Given the description of an element on the screen output the (x, y) to click on. 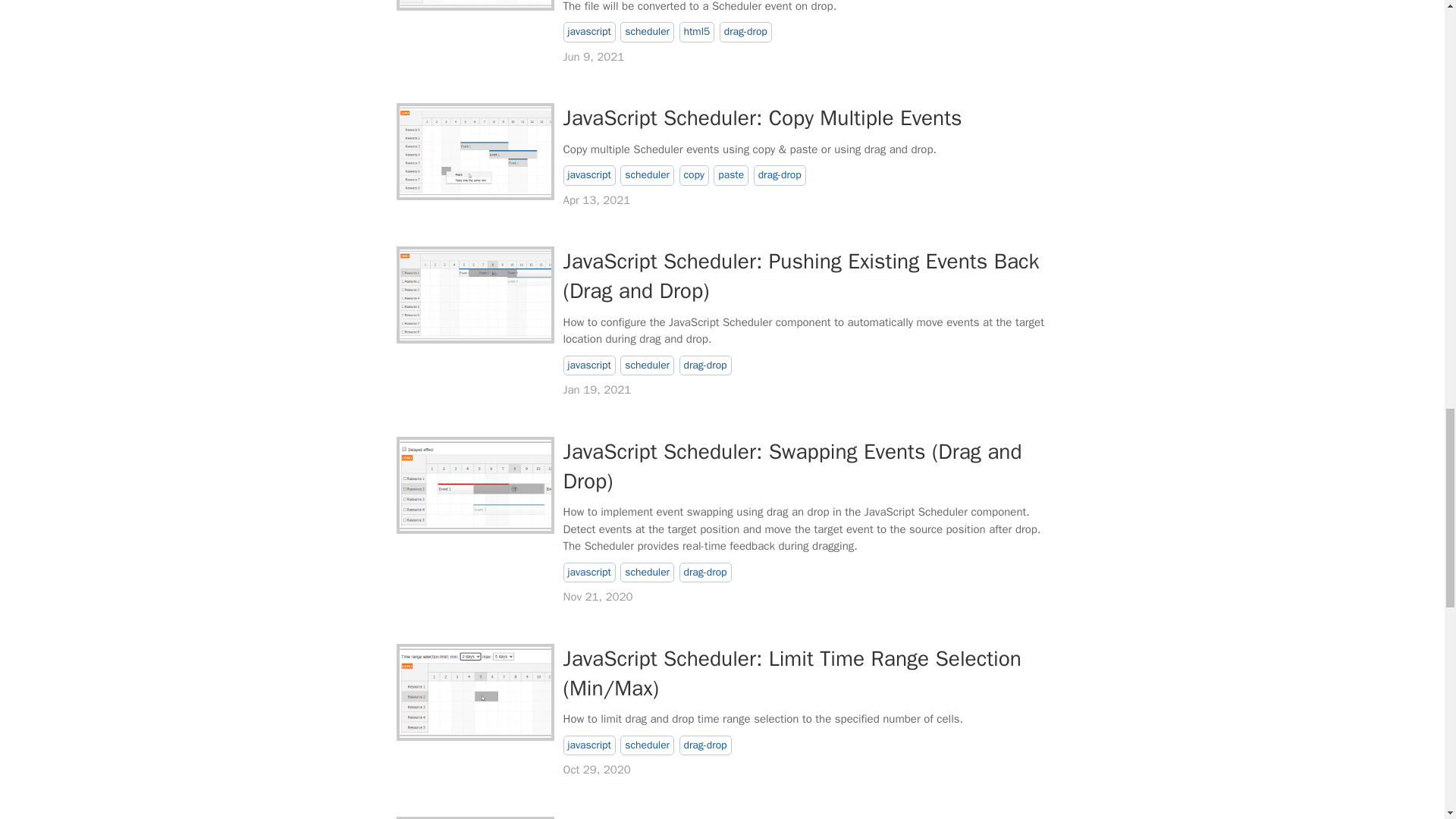
JavaScript Scheduler: Copy Multiple Events (474, 151)
